Given the description of an element on the screen output the (x, y) to click on. 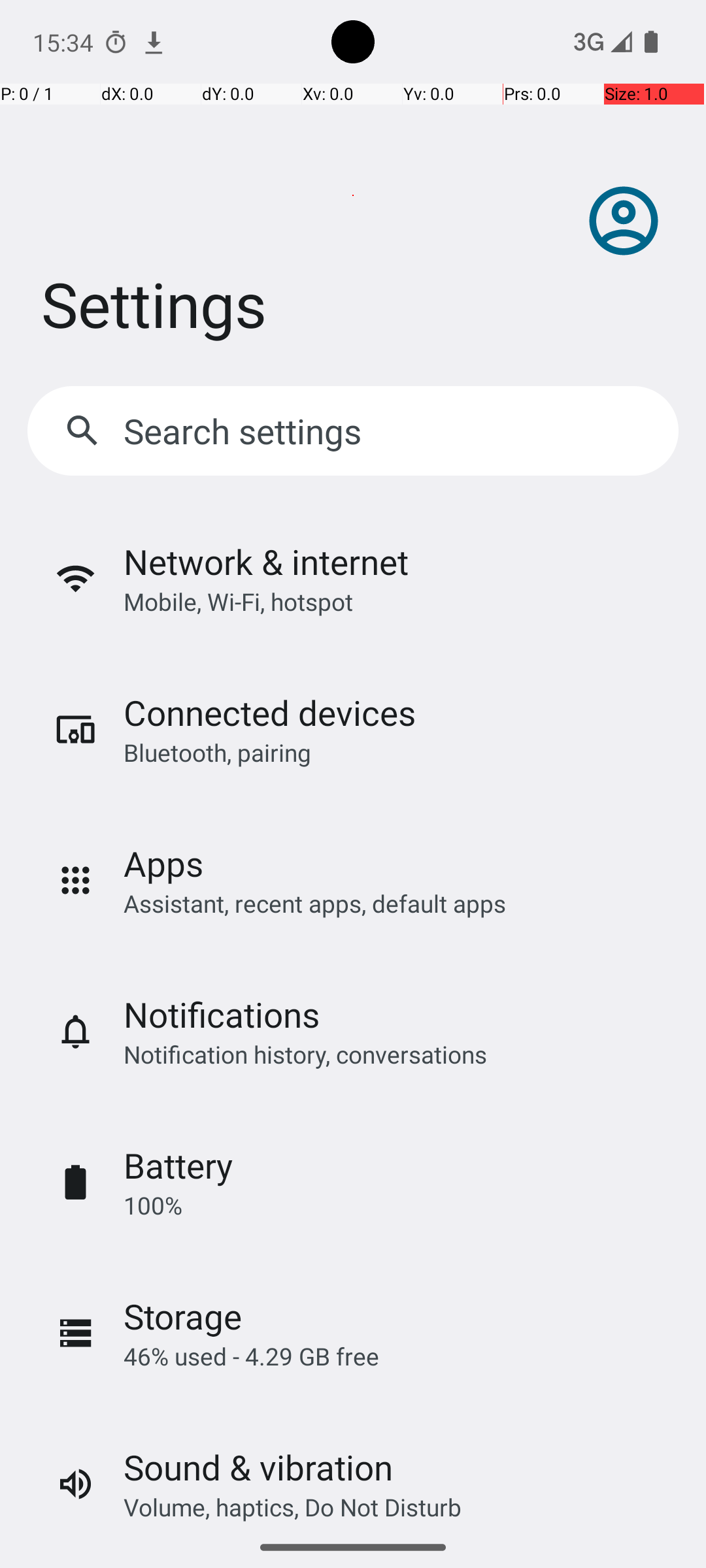
46% used - 4.29 GB free Element type: android.widget.TextView (251, 1355)
